Given the description of an element on the screen output the (x, y) to click on. 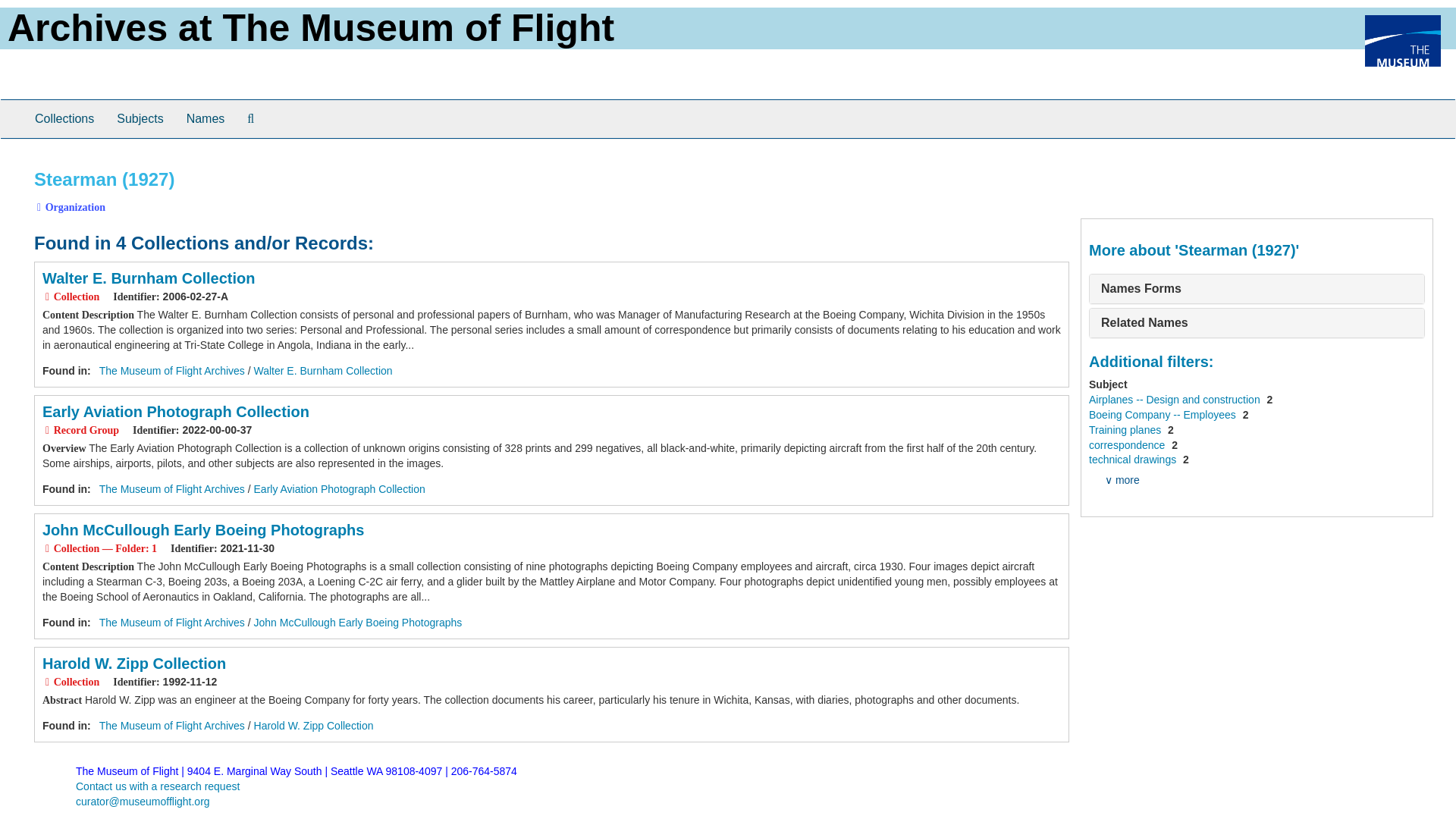
Harold W. Zipp Collection (133, 663)
John McCullough Early Boeing Photographs (203, 529)
John McCullough Early Boeing Photographs (358, 622)
correspondence (1128, 444)
Archives at The Museum of Flight (310, 27)
Filter By 'correspondence' (1128, 444)
Related Names (1144, 322)
Airplanes -- Design and construction (1176, 399)
Subjects (139, 118)
Training planes (1126, 429)
Filter By 'Airplanes -- Design and construction' (1176, 399)
Early Aviation Photograph Collection (175, 411)
Walter E. Burnham Collection (148, 278)
Harold W. Zipp Collection (313, 725)
Early Aviation Photograph Collection (339, 489)
